Given the description of an element on the screen output the (x, y) to click on. 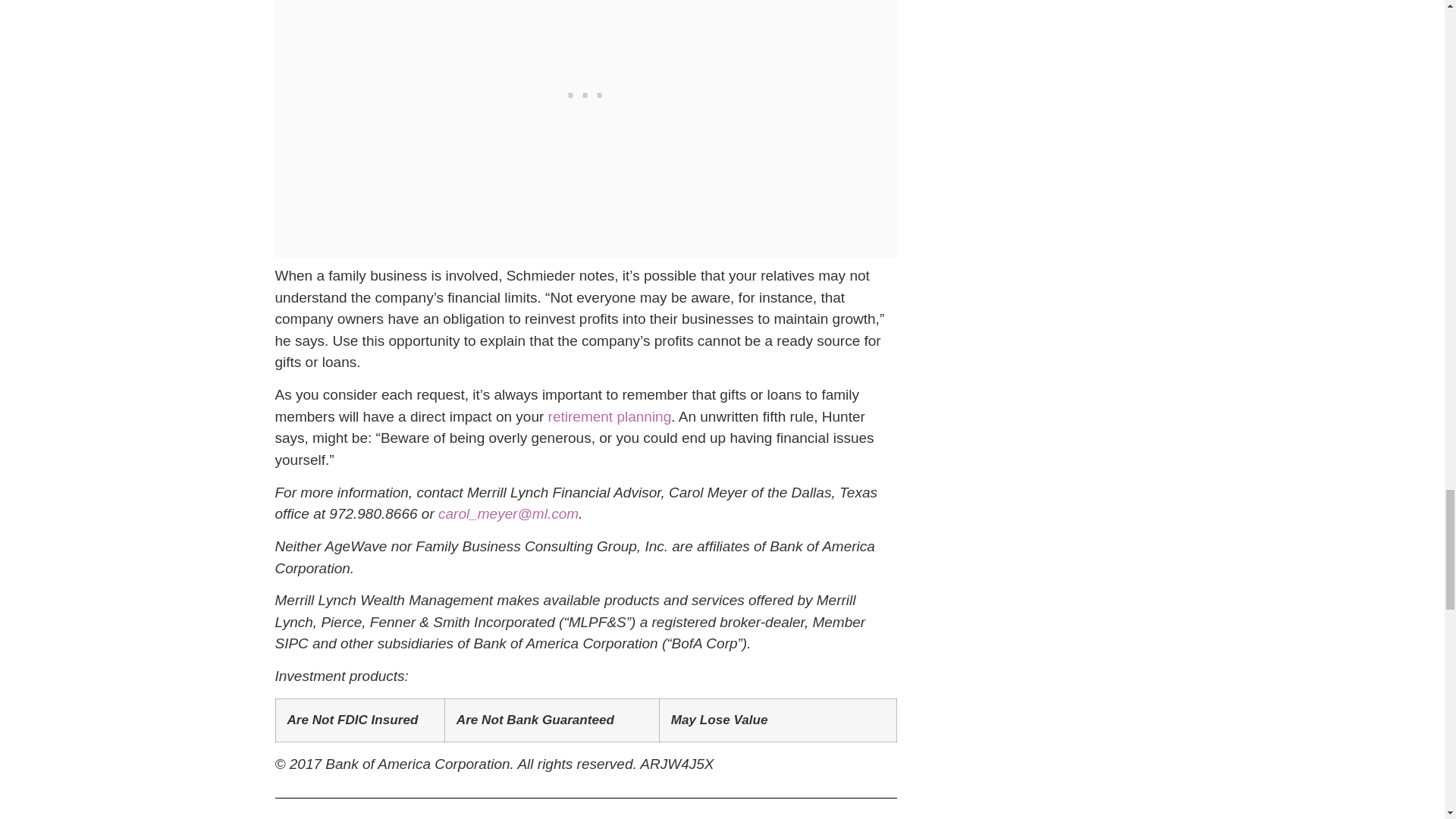
retirement planning (609, 416)
